Given the description of an element on the screen output the (x, y) to click on. 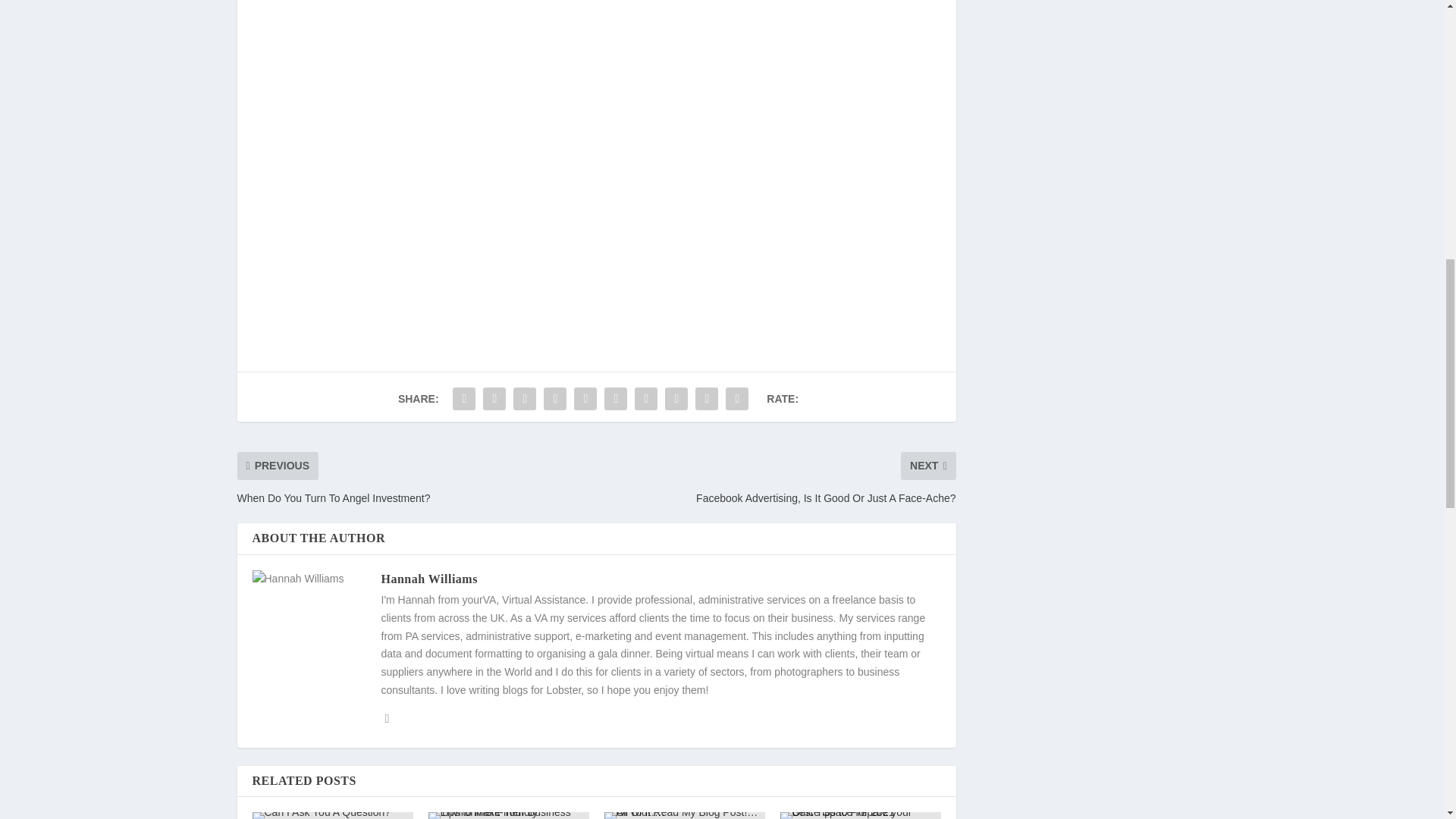
Share "Better Than A Trailer" via Buffer (645, 399)
Share "Better Than A Trailer" via Twitter (494, 399)
Share "Better Than A Trailer" via LinkedIn (614, 399)
Share "Better Than A Trailer" via Tumblr (555, 399)
Share "Better Than A Trailer" via Pinterest (584, 399)
Share "Better Than A Trailer" via Facebook (463, 399)
